Given the description of an element on the screen output the (x, y) to click on. 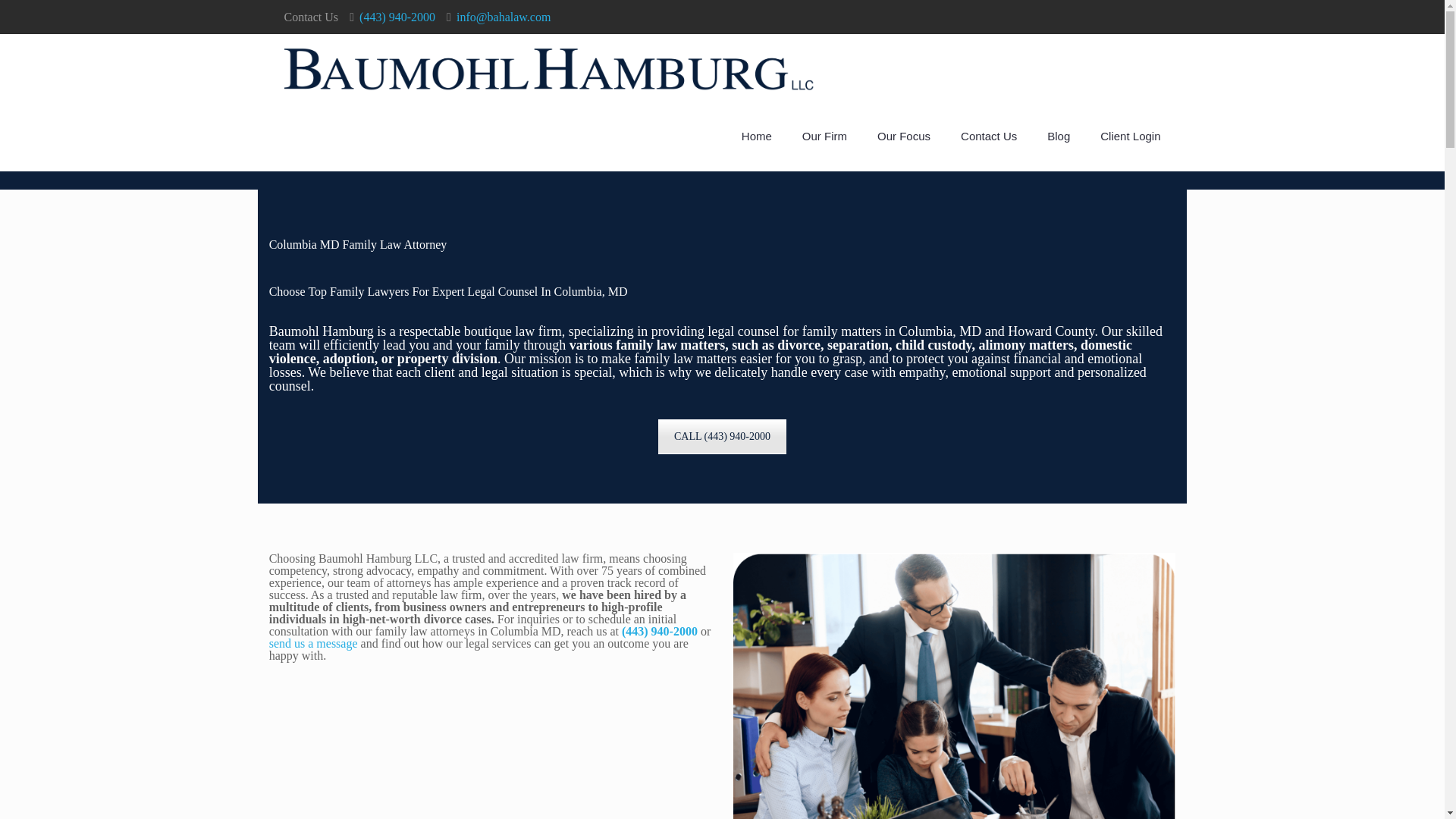
Columbia MD Family Law Attorney (357, 244)
Contact Us (988, 136)
Baumohl Hamburg (548, 68)
Our Focus (902, 136)
Our Firm (824, 136)
Client Login (1129, 136)
send us a message (313, 643)
Family lawyer Columbia MD (953, 685)
Home (756, 136)
